Given the description of an element on the screen output the (x, y) to click on. 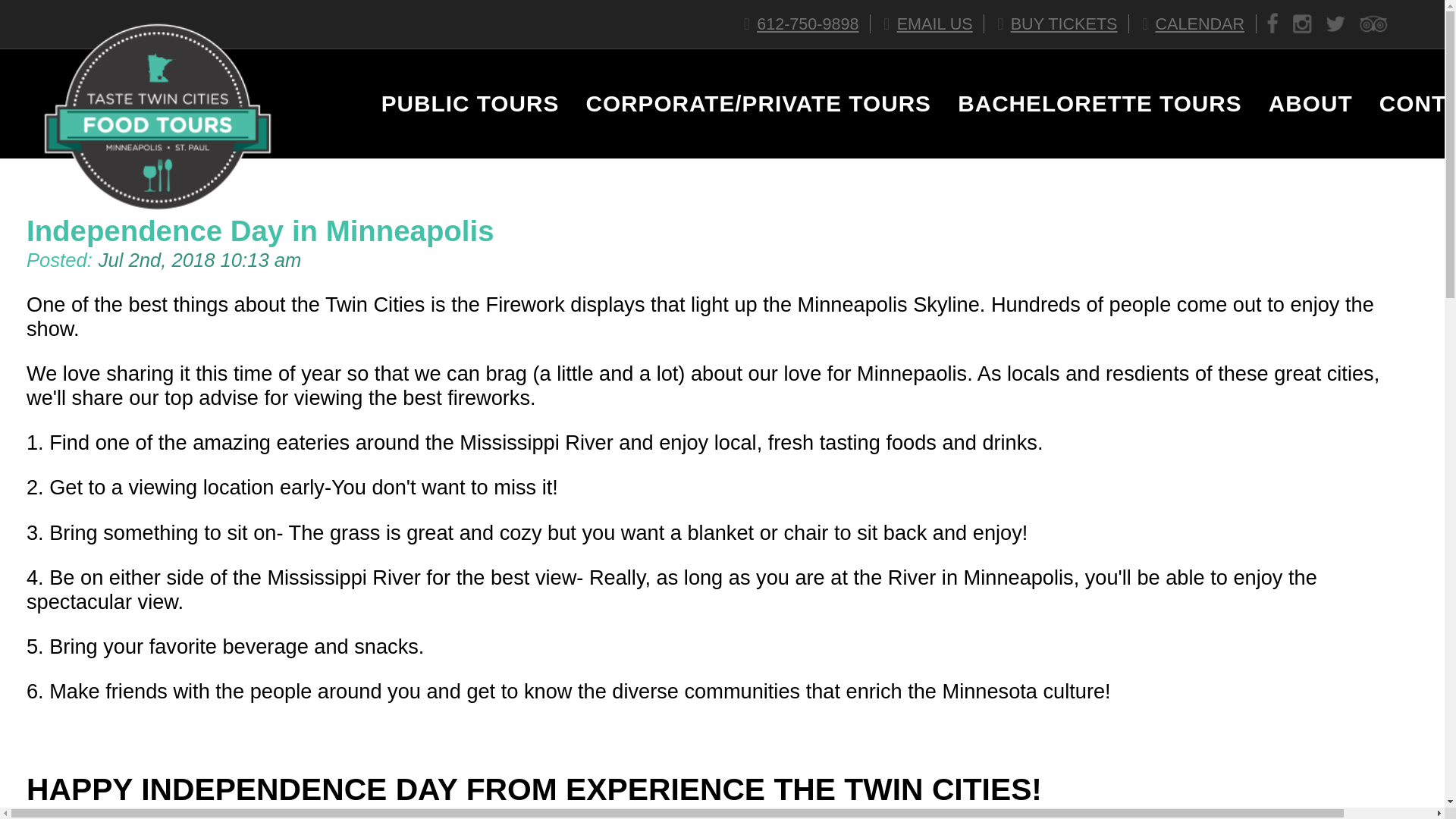
Trip Advisor (1373, 23)
612-750-9898 (803, 24)
EMAIL US (930, 24)
BACHELORETTE TOURS (1086, 103)
CALENDAR (1194, 24)
ABOUT (1296, 103)
PUBLIC TOURS (456, 103)
Instagram (1302, 23)
Taste Twin Cities (156, 228)
BUY TICKETS (1059, 24)
